Given the description of an element on the screen output the (x, y) to click on. 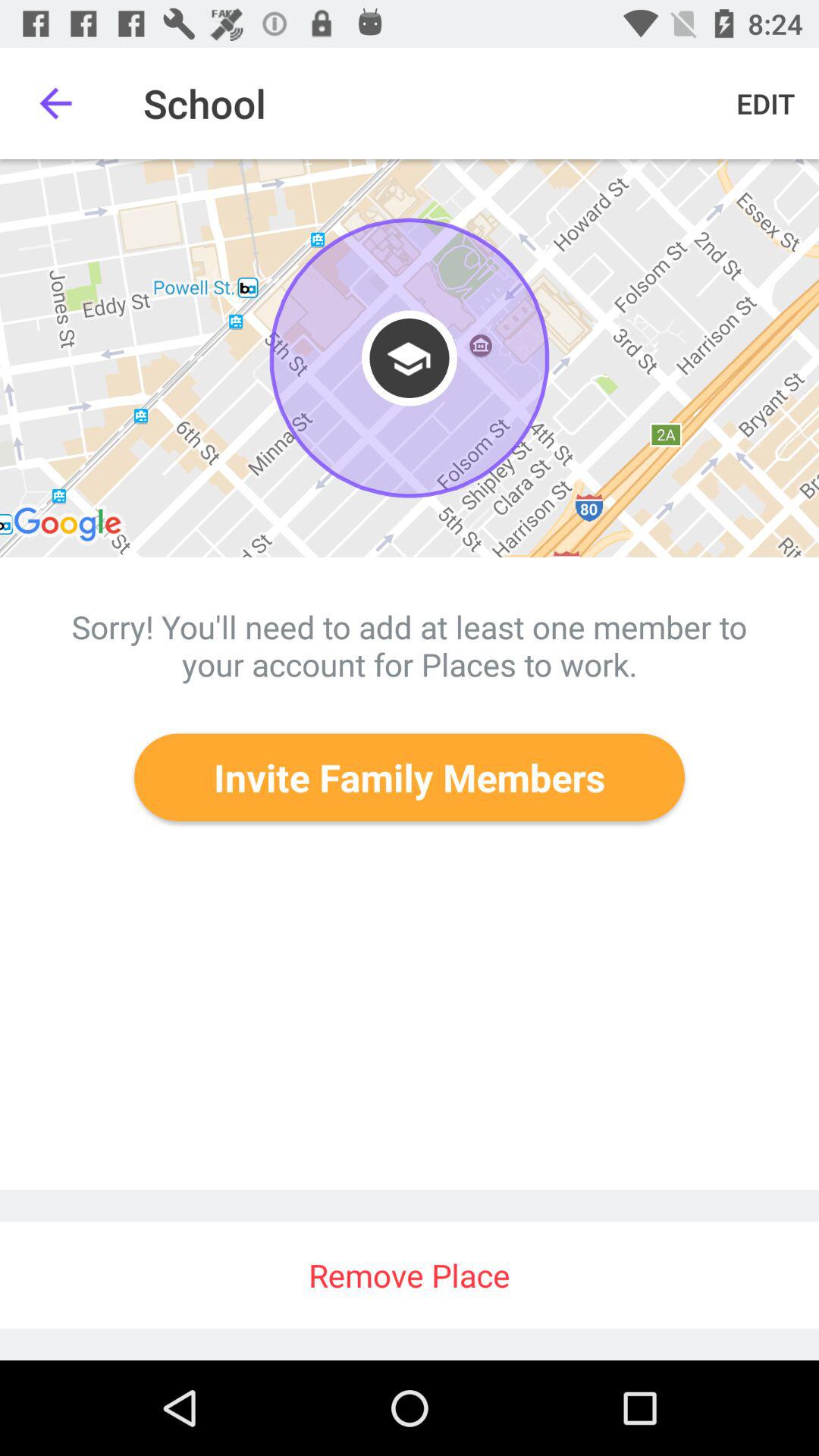
turn off the icon below the invite family members icon (409, 1274)
